Given the description of an element on the screen output the (x, y) to click on. 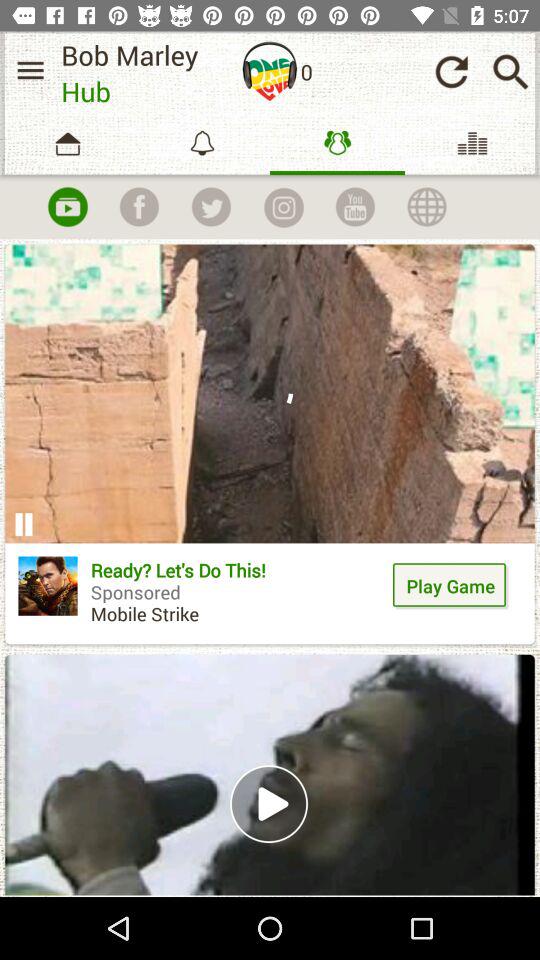
launch the icon to the left of play game item (238, 599)
